Given the description of an element on the screen output the (x, y) to click on. 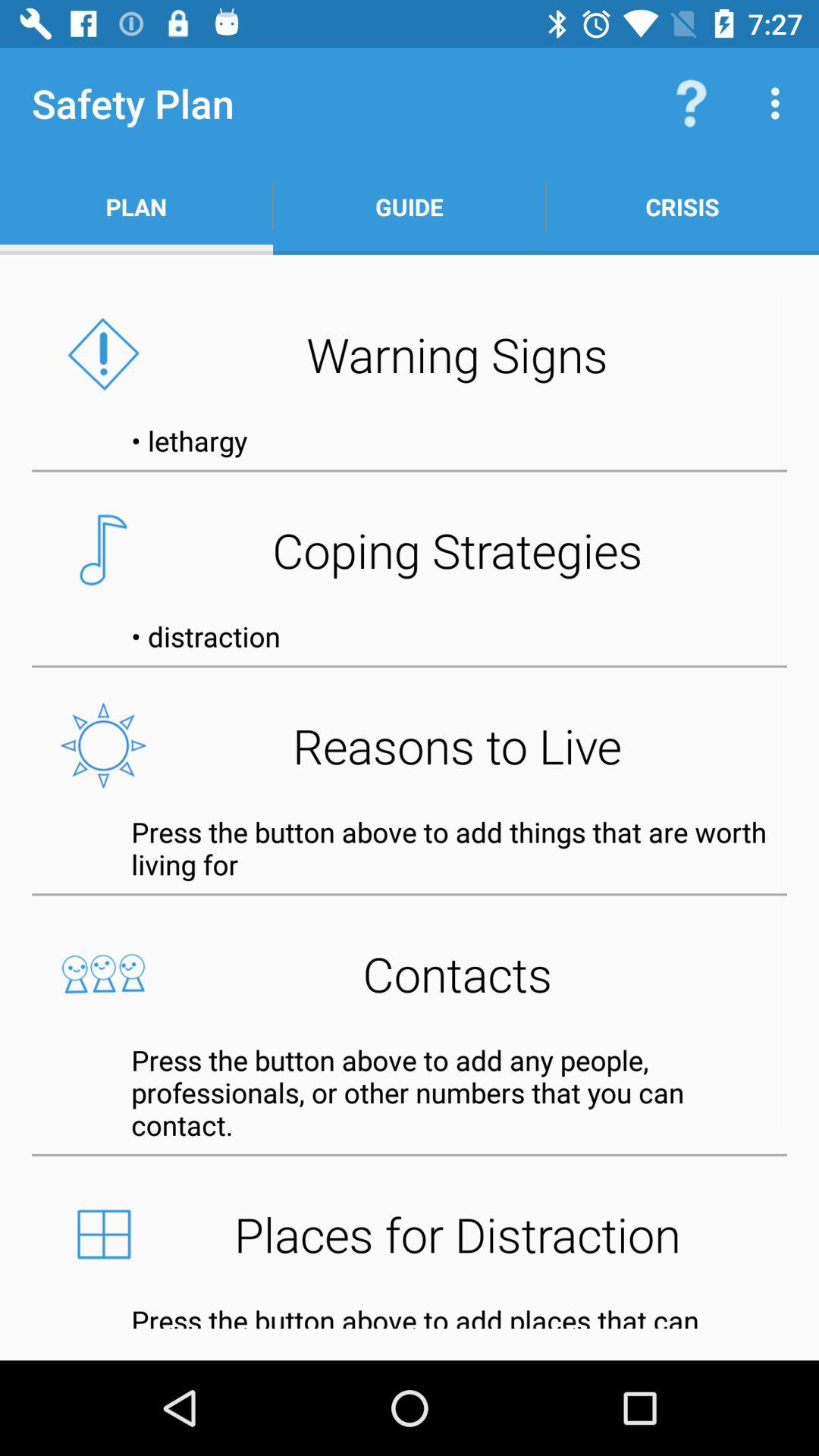
open the icon to the right of plan app (409, 206)
